Given the description of an element on the screen output the (x, y) to click on. 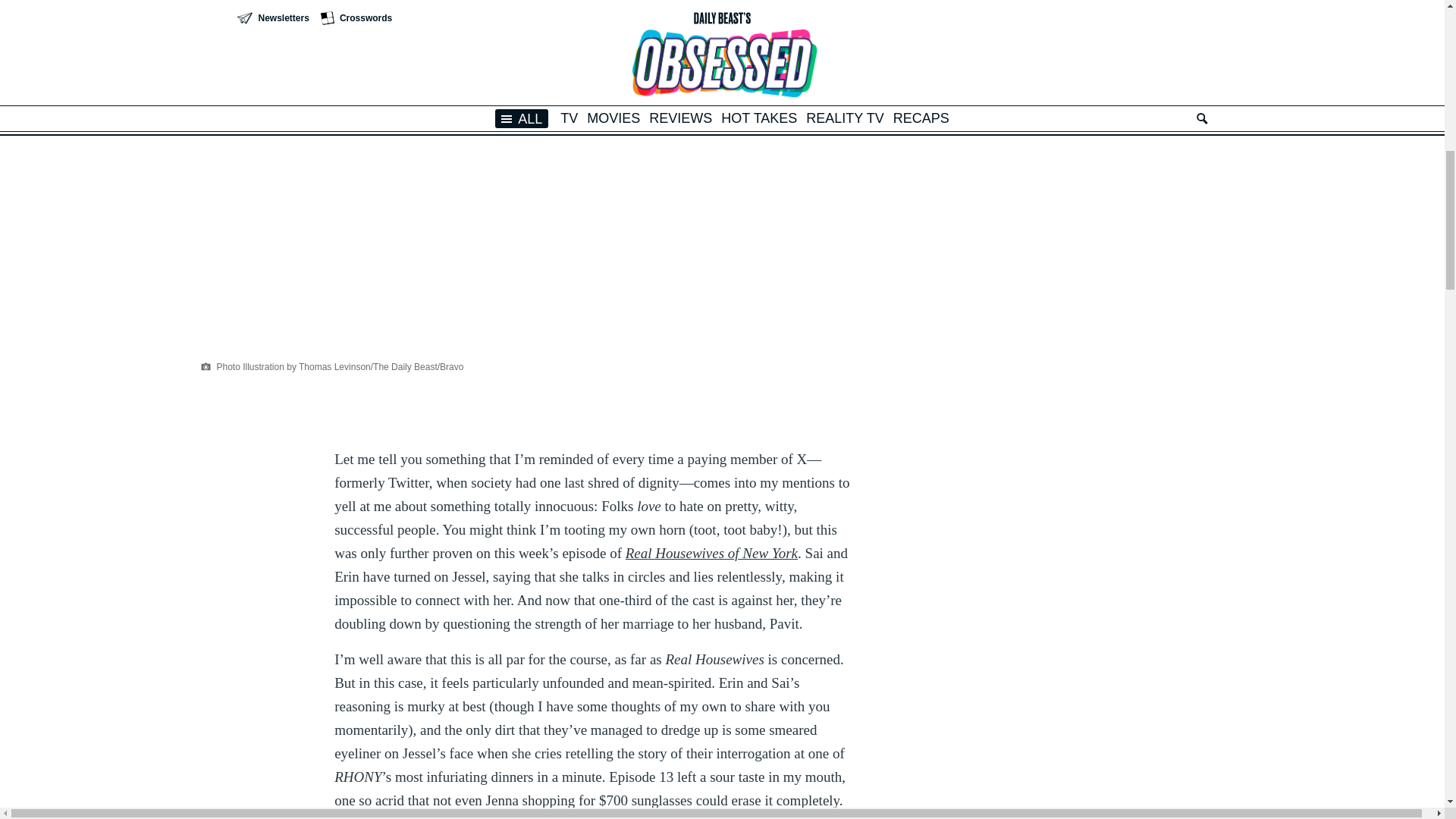
Real Housewives of New York (711, 553)
